Given the description of an element on the screen output the (x, y) to click on. 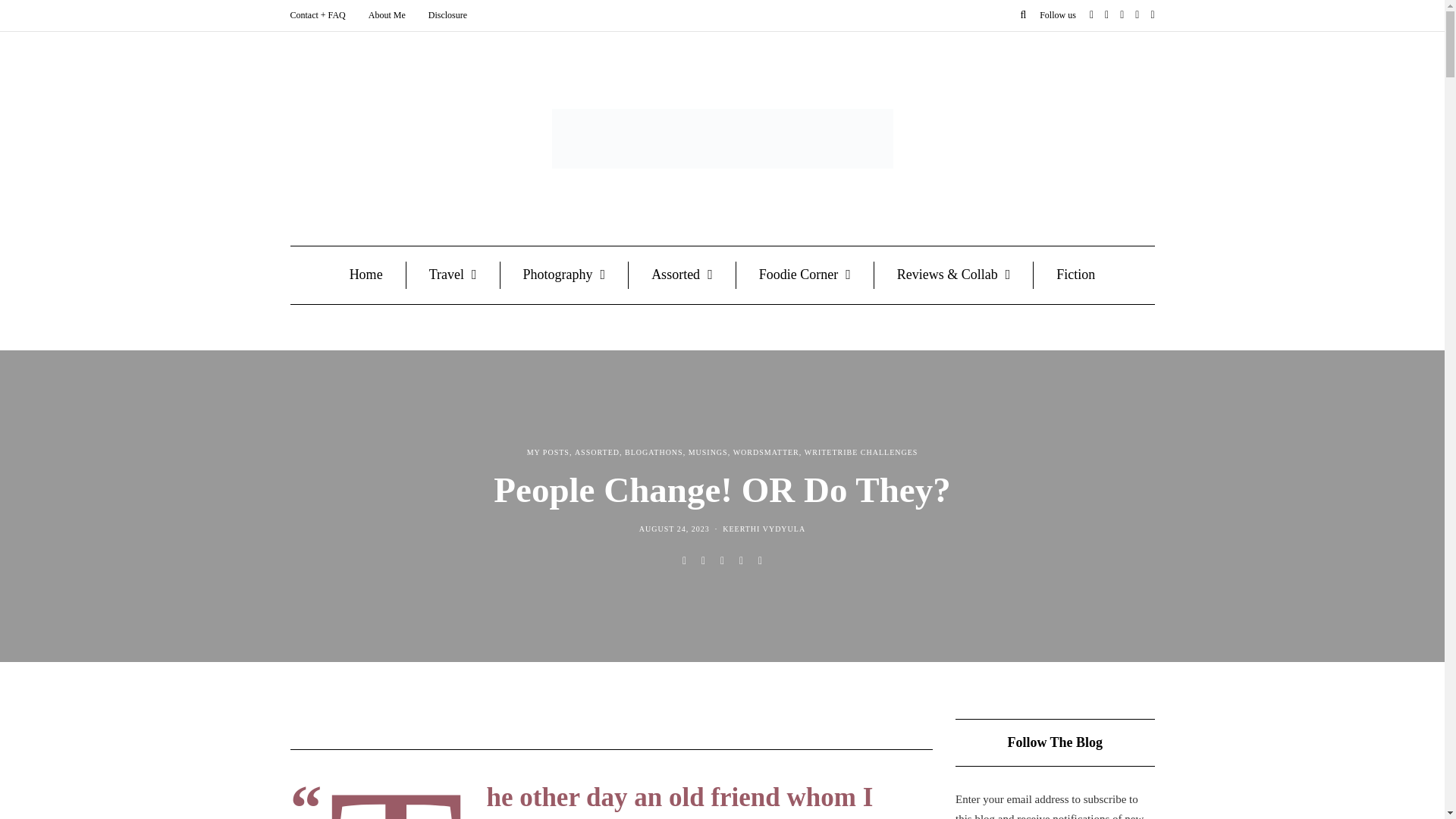
Home (366, 275)
Share with LinkedIn (741, 560)
Share with Google Plus (722, 560)
About Me (386, 15)
Posts by Keerthi Vydyula (763, 528)
Tweet this (703, 560)
Travel (453, 275)
Photography (564, 275)
Assorted (682, 275)
Pin this (760, 560)
